Given the description of an element on the screen output the (x, y) to click on. 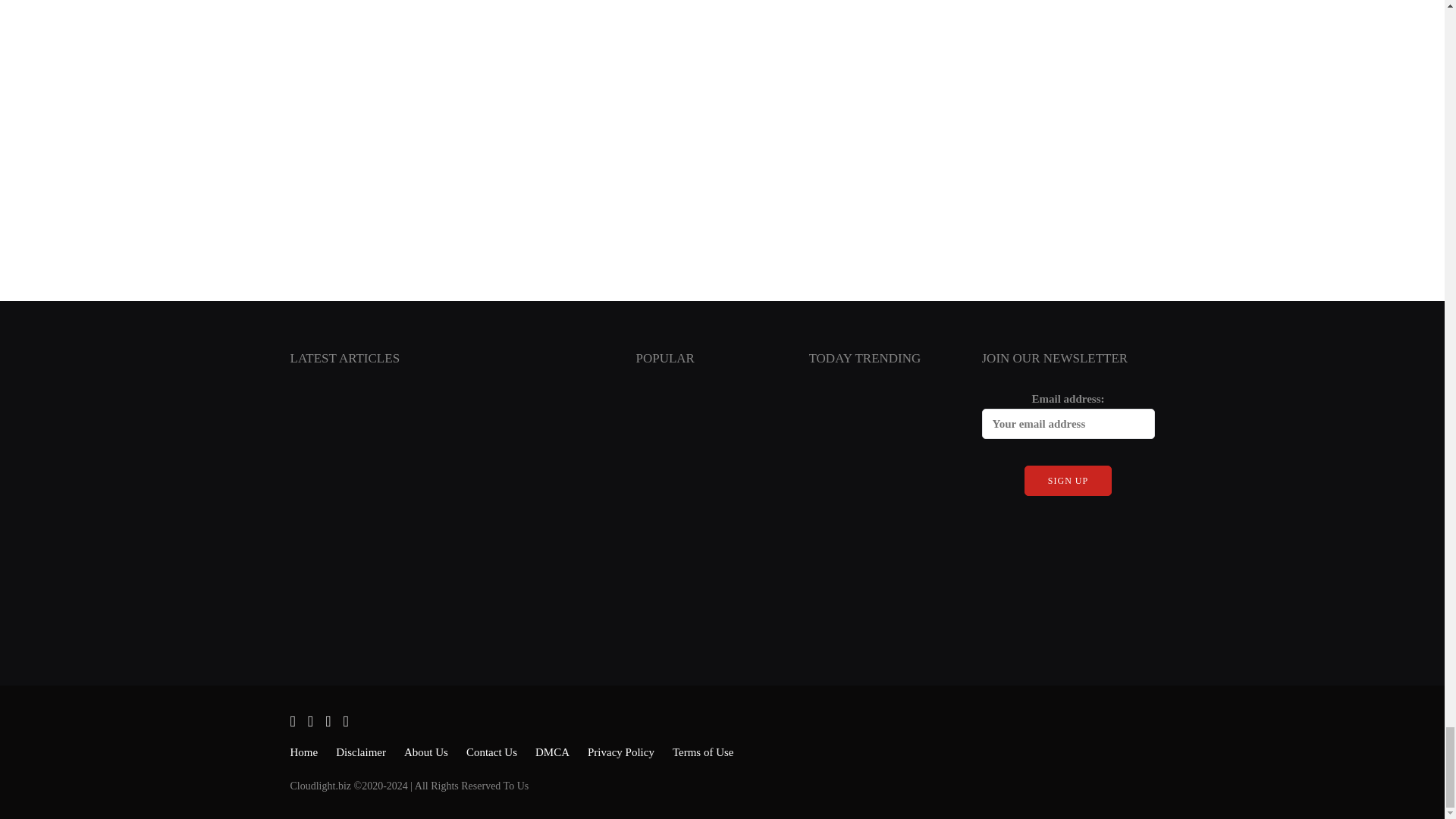
Sign up (1068, 481)
